Given the description of an element on the screen output the (x, y) to click on. 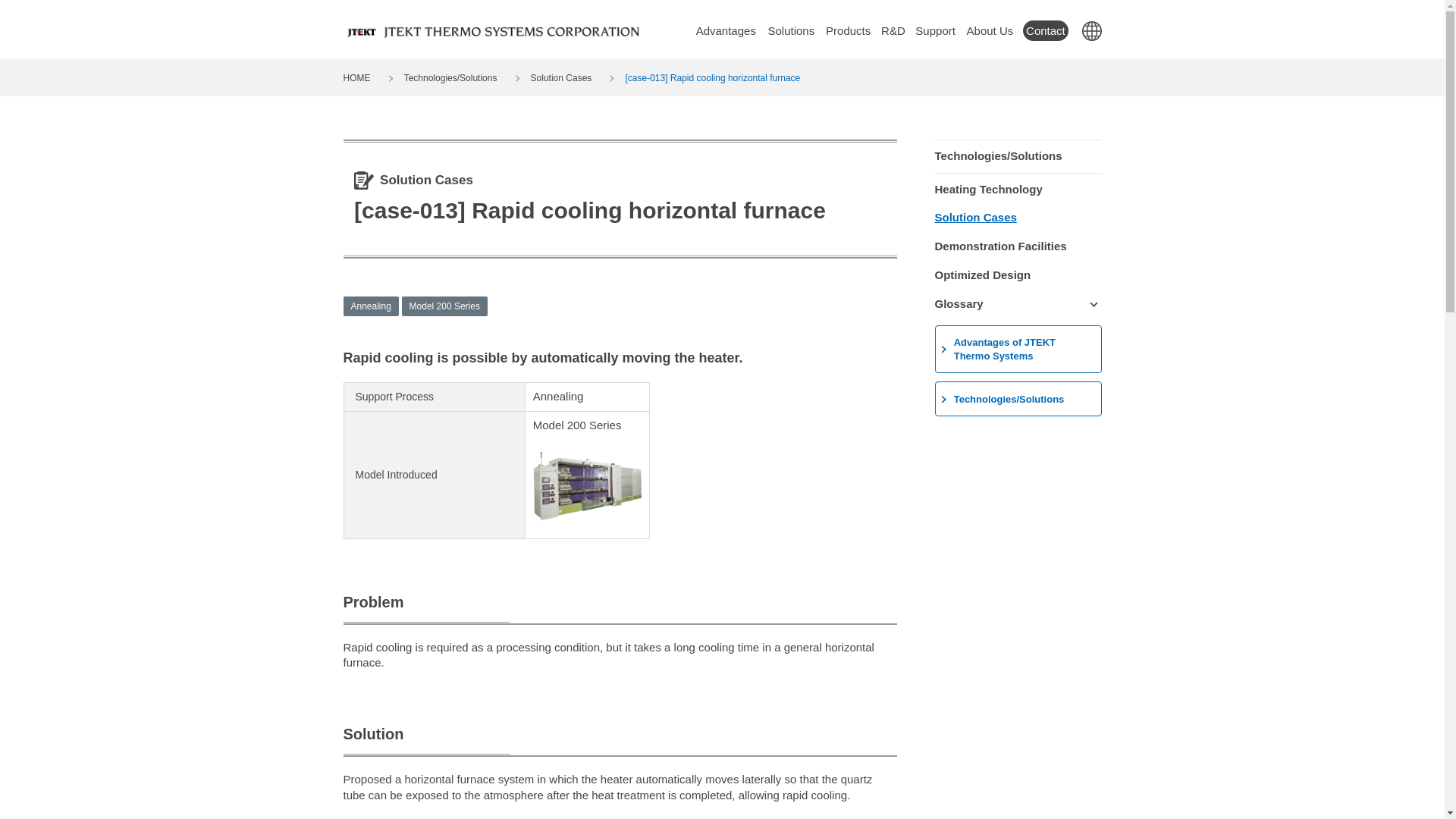
Products (848, 30)
About Us (988, 30)
Solutions (790, 30)
Support (935, 30)
Advantages (726, 30)
